Given the description of an element on the screen output the (x, y) to click on. 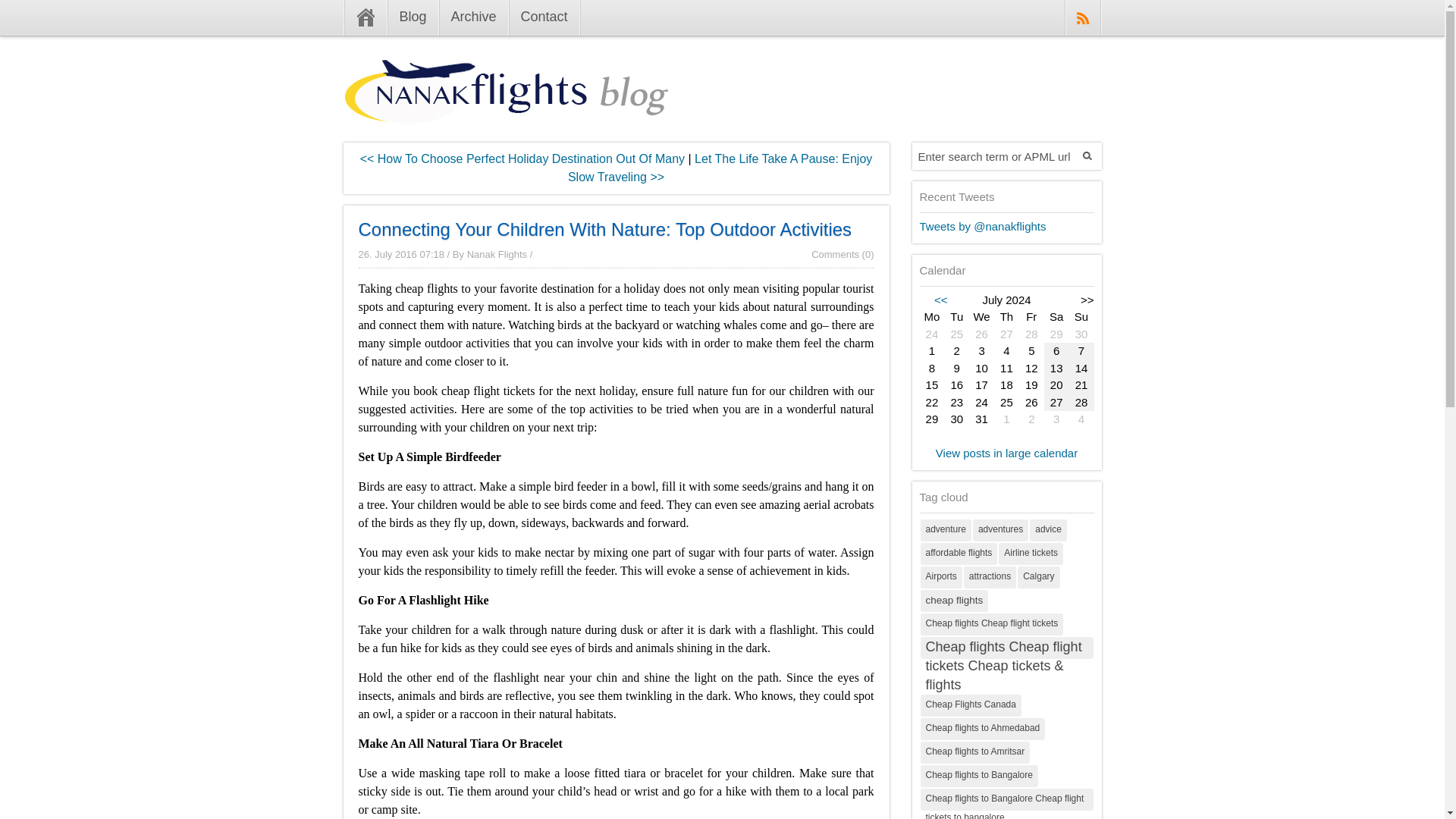
Airline tickets (1030, 553)
Next post (521, 158)
Archive (473, 18)
Calgary (1038, 576)
Calendar (1005, 368)
Enter search term or APML url (992, 155)
Subscribe (1082, 18)
Connecting Your Children With Nature: Top Outdoor Activities (604, 229)
Airports (941, 576)
Search (1087, 155)
adventures (999, 529)
advice (1048, 529)
affordable flights (958, 553)
attractions (989, 576)
Cheap flights to Amritsar (975, 752)
